Given the description of an element on the screen output the (x, y) to click on. 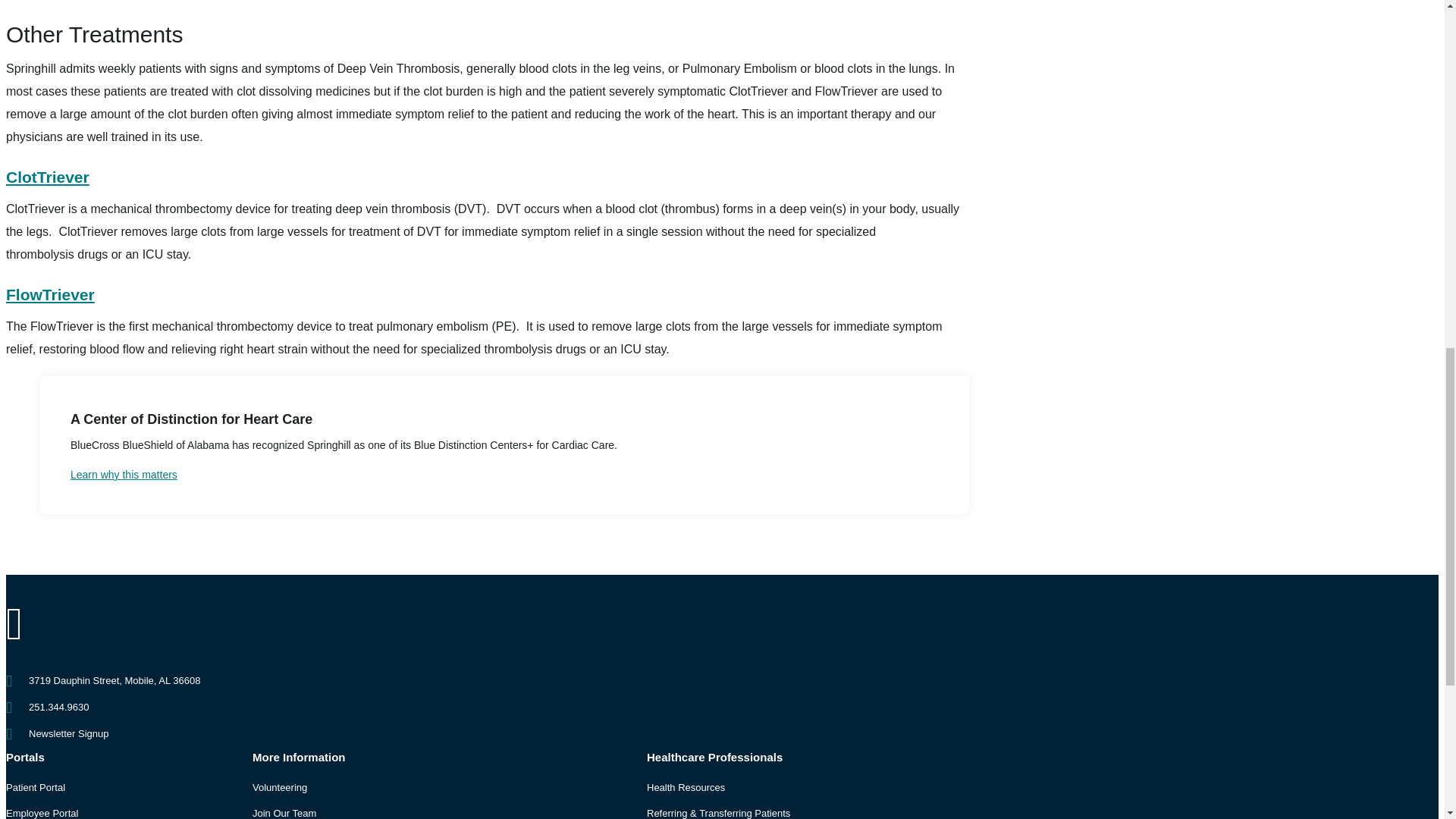
ClotTriever (46, 176)
FlowTriever (49, 294)
Learn why this matters (504, 475)
FlowTriever (49, 294)
ClotTriever (46, 176)
251.344.9630 (58, 706)
